Given the description of an element on the screen output the (x, y) to click on. 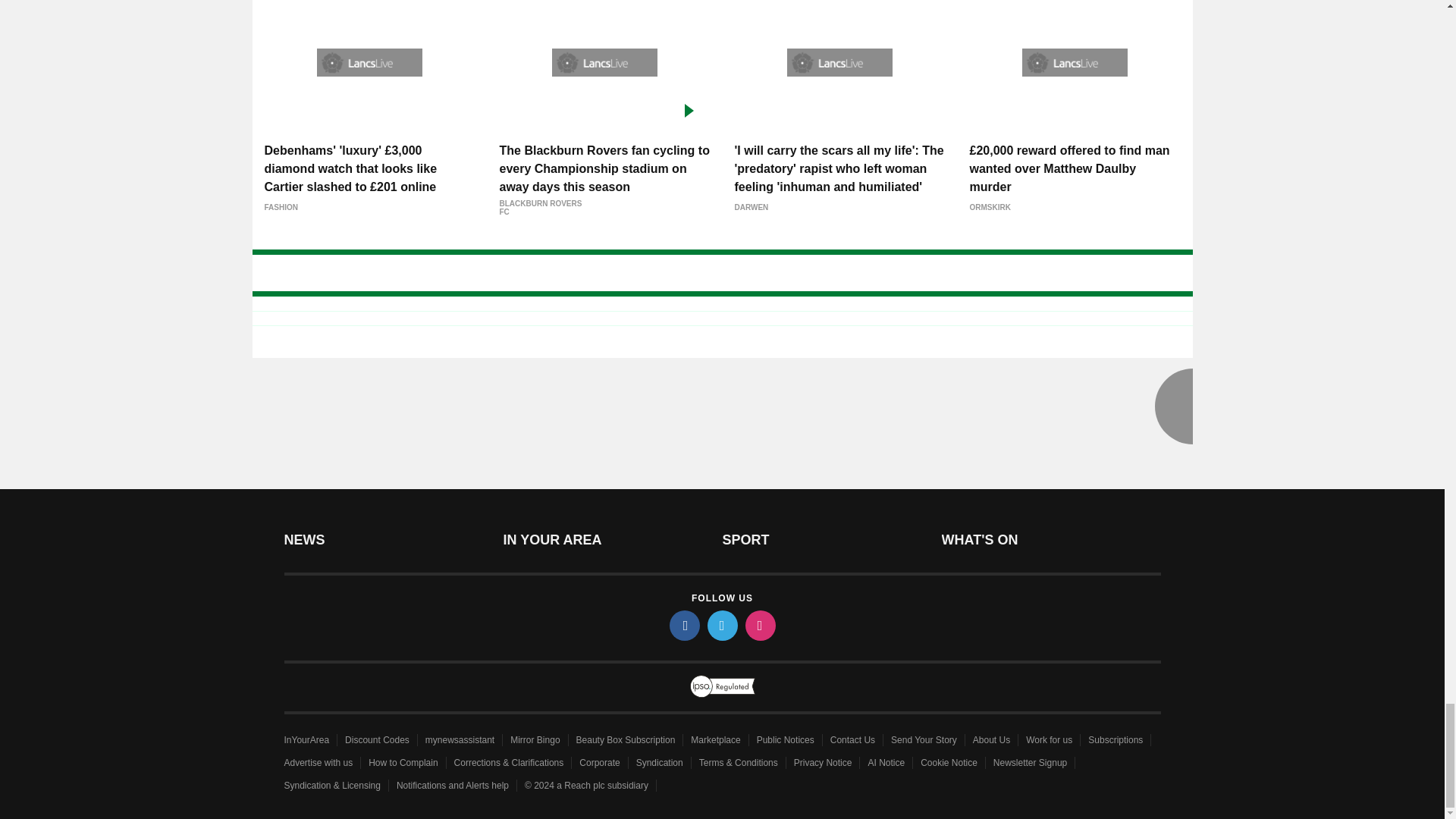
instagram (759, 625)
facebook (683, 625)
twitter (721, 625)
